Given the description of an element on the screen output the (x, y) to click on. 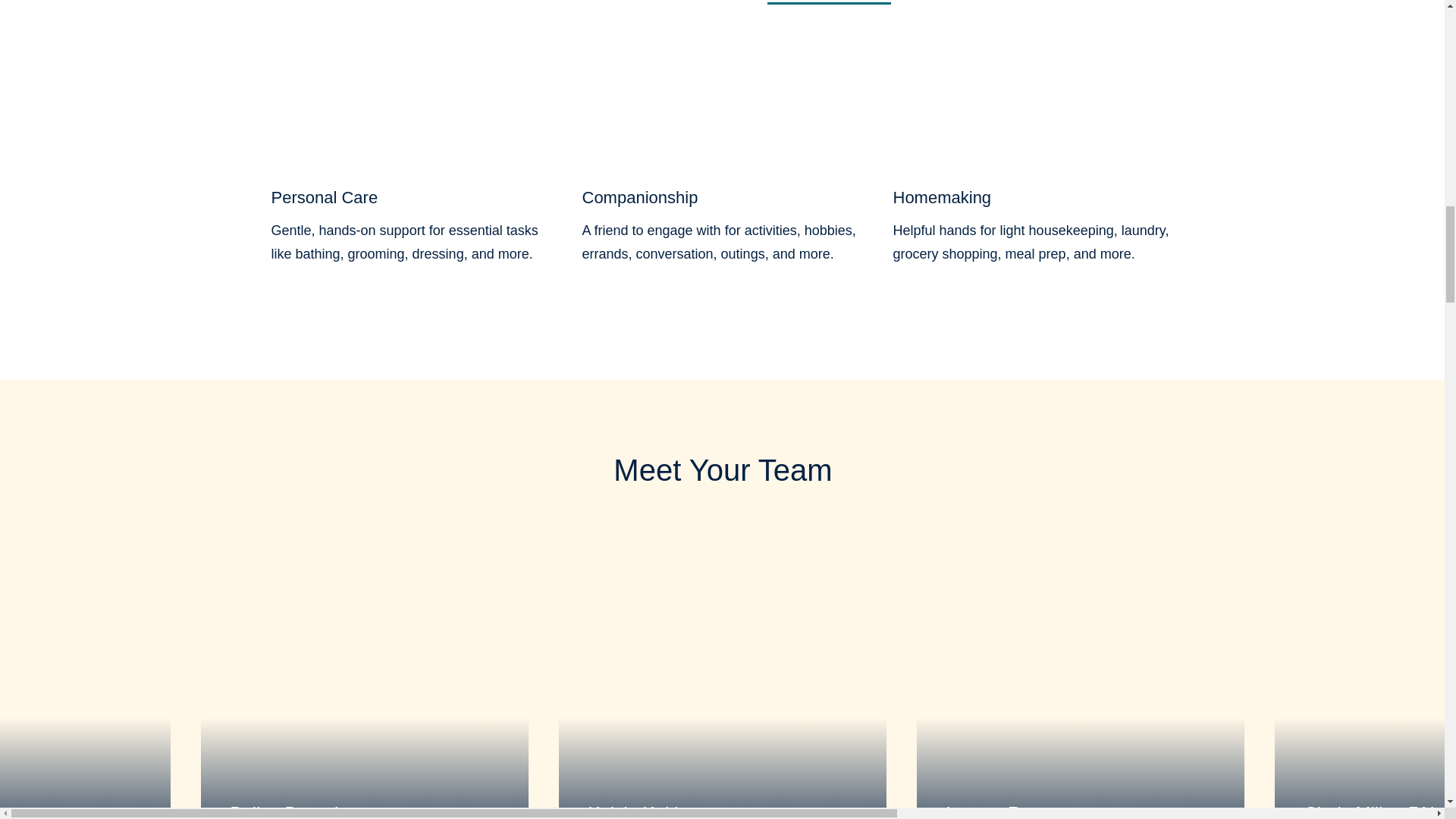
View All Services (829, 2)
